Given the description of an element on the screen output the (x, y) to click on. 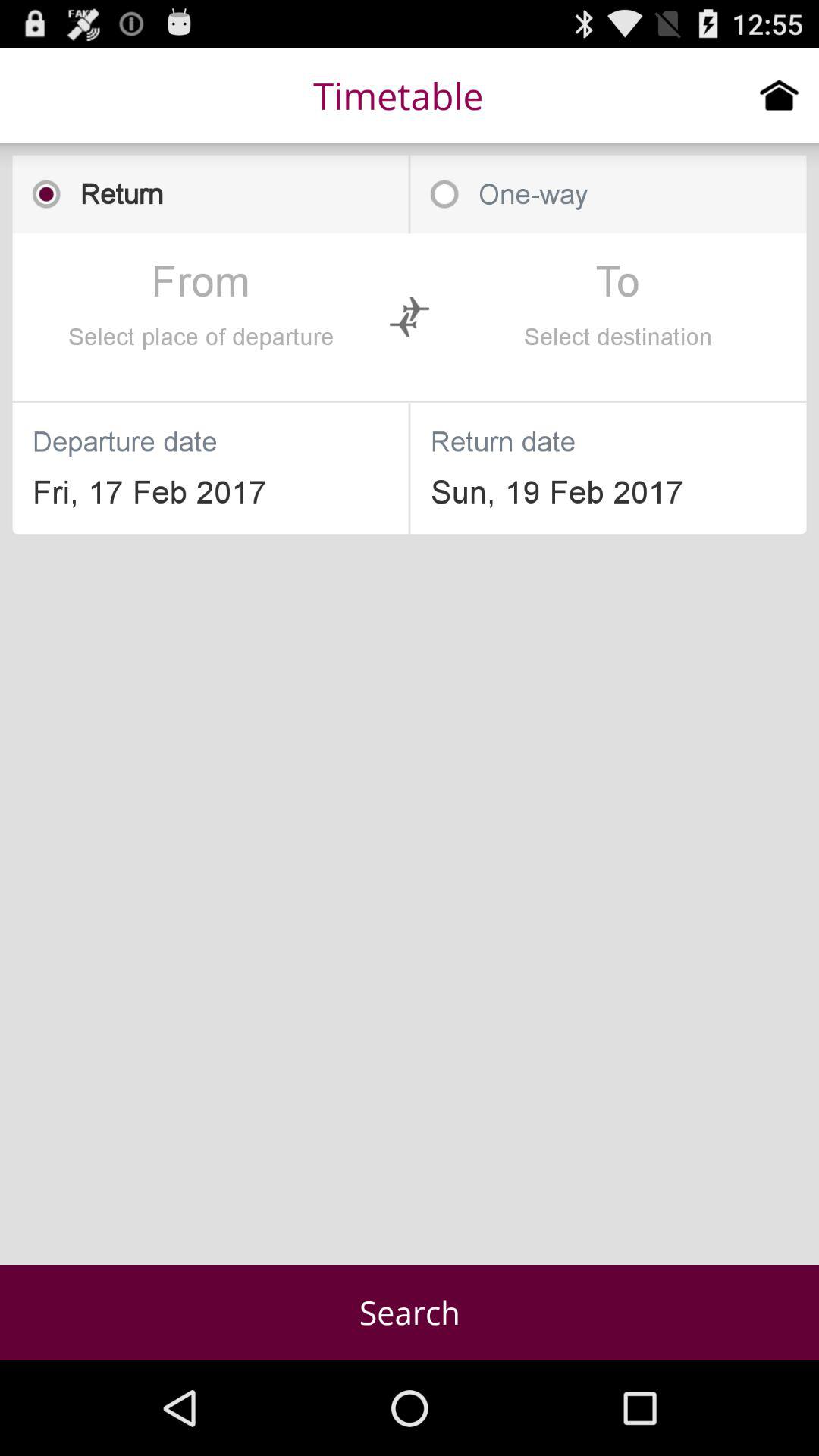
jump to one-way (608, 194)
